Given the description of an element on the screen output the (x, y) to click on. 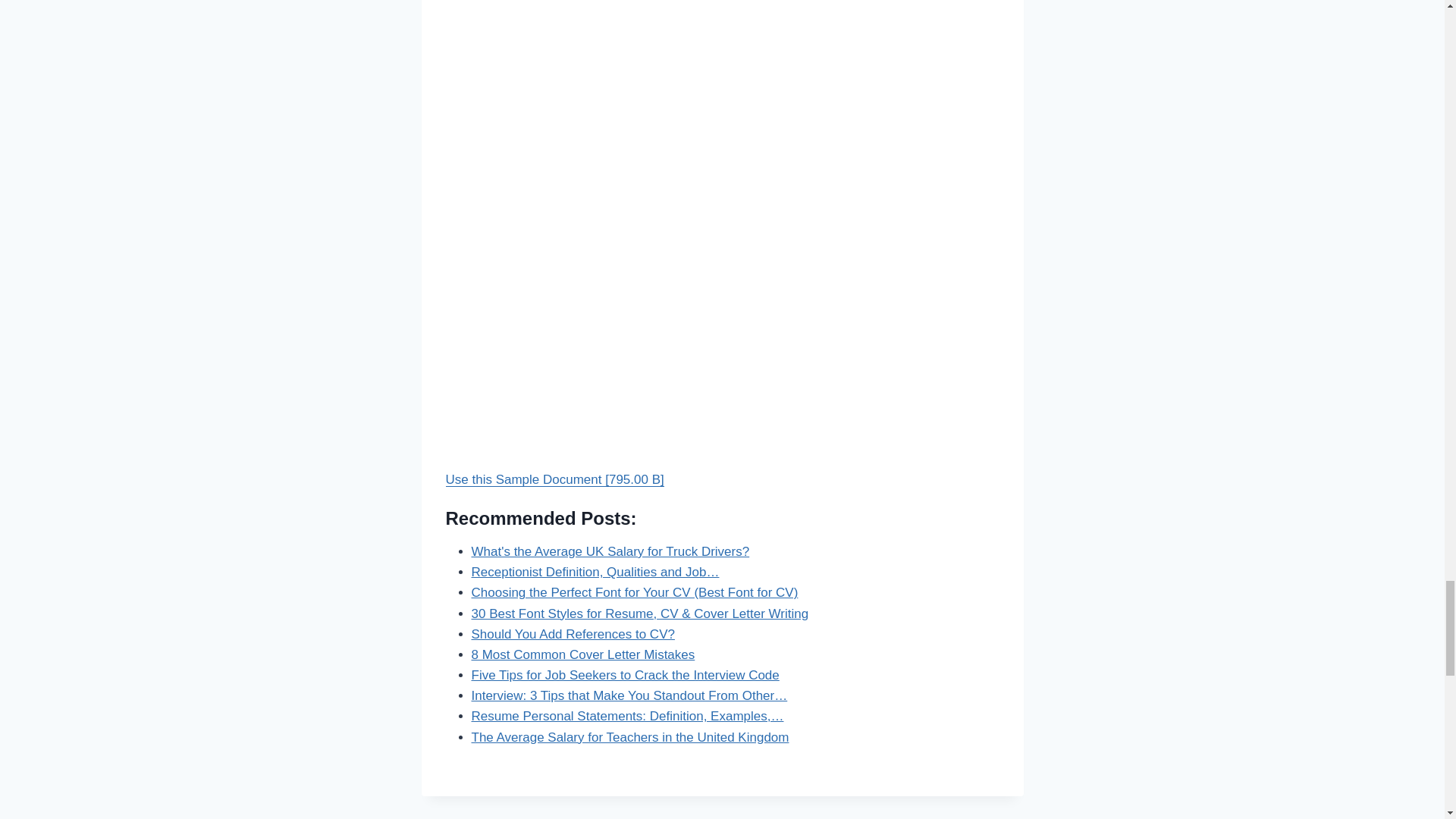
What's the Average UK Salary for Truck Drivers? (610, 551)
The Average Salary for Teachers in the United Kingdom (630, 737)
8 Most Common Cover Letter Mistakes (583, 654)
Five Tips for Job Seekers to Crack the Interview Code (624, 675)
Should You Add References to CV? (573, 634)
